Given the description of an element on the screen output the (x, y) to click on. 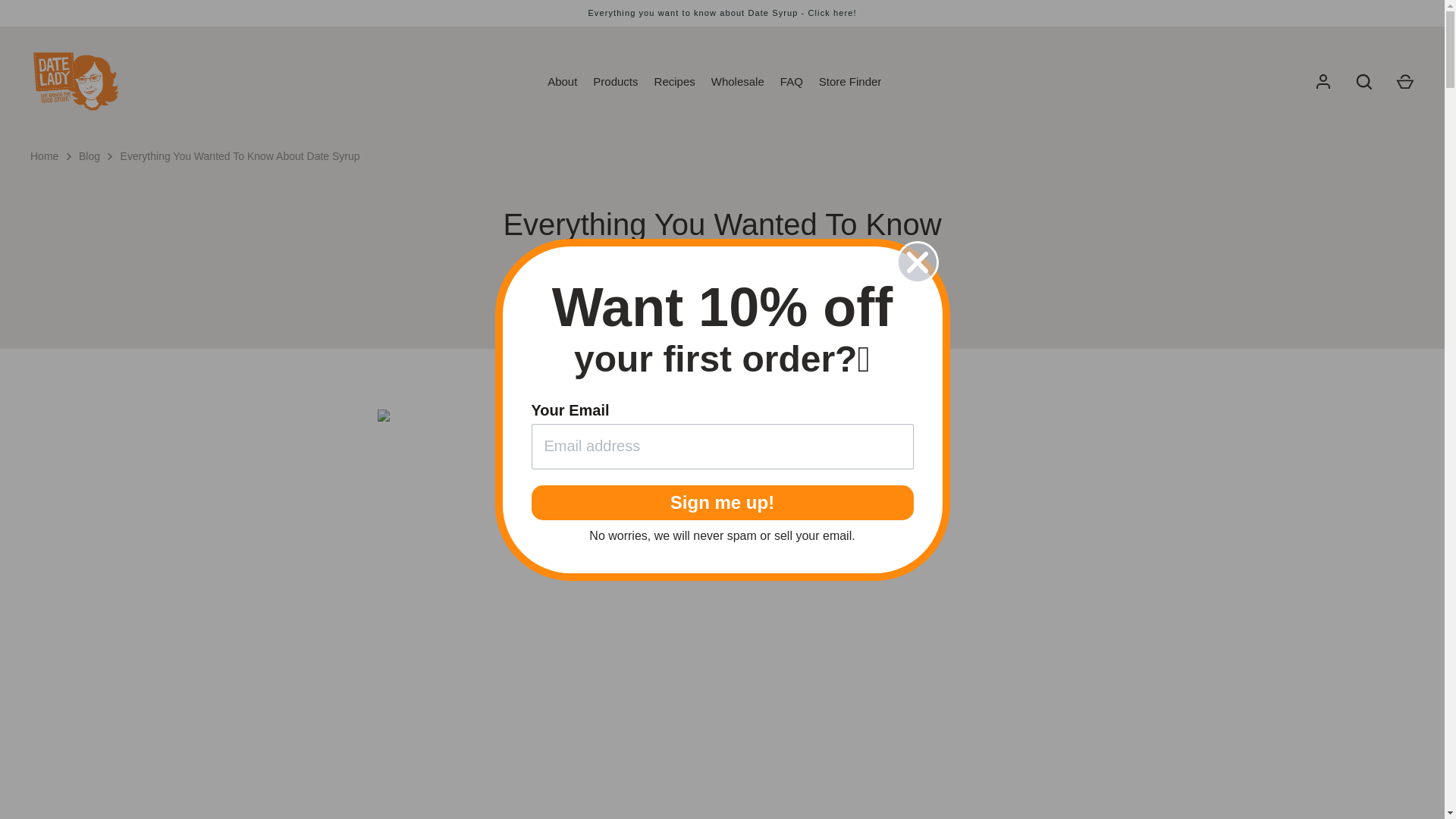
Recipes (674, 81)
Store Finder (849, 81)
Wholesale (737, 81)
About (562, 81)
Products (615, 81)
FAQ (790, 81)
